Given the description of an element on the screen output the (x, y) to click on. 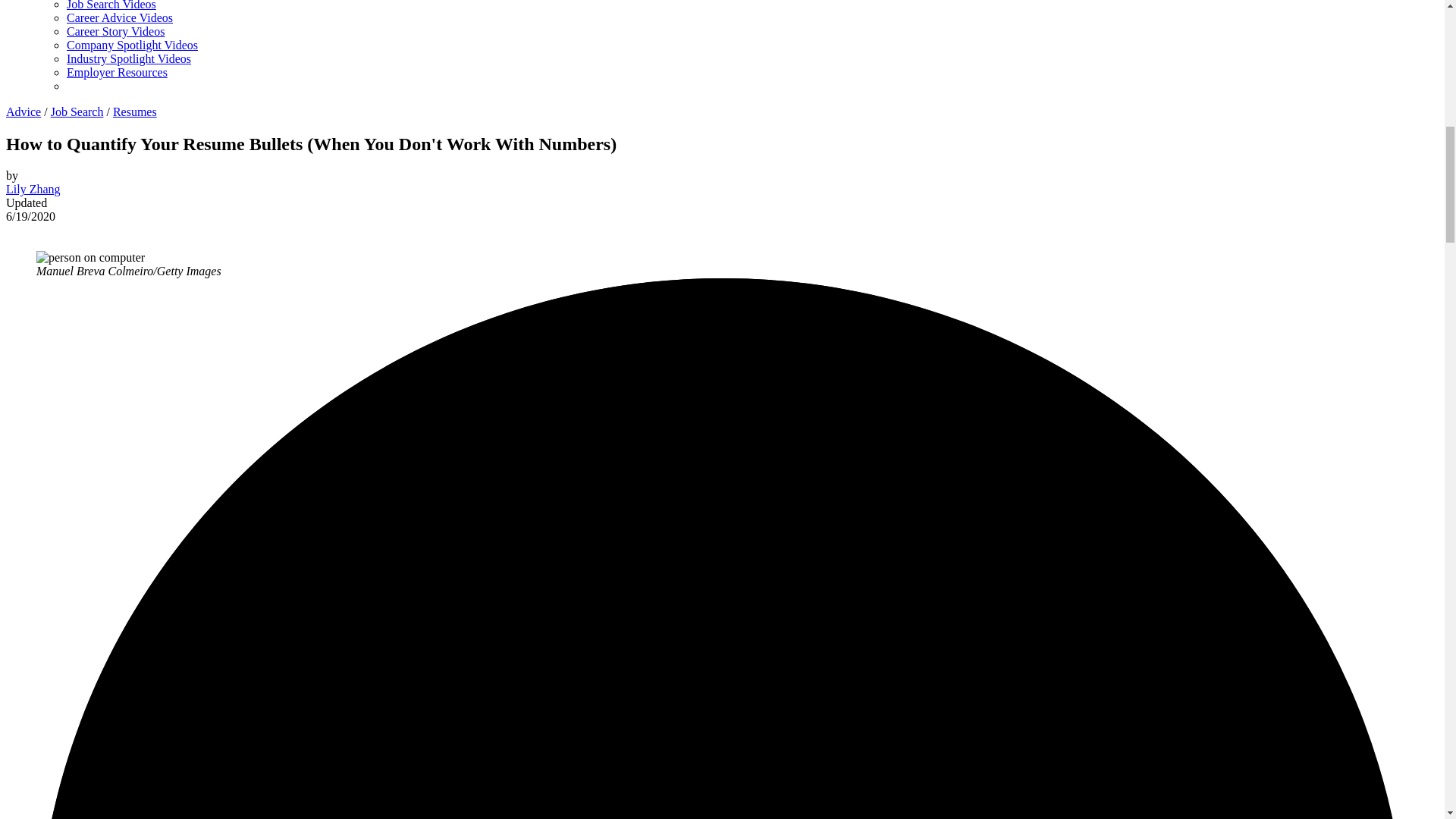
Email (48, 229)
LinkedIn (36, 229)
Facebook (11, 229)
Twitter (23, 229)
